Given the description of an element on the screen output the (x, y) to click on. 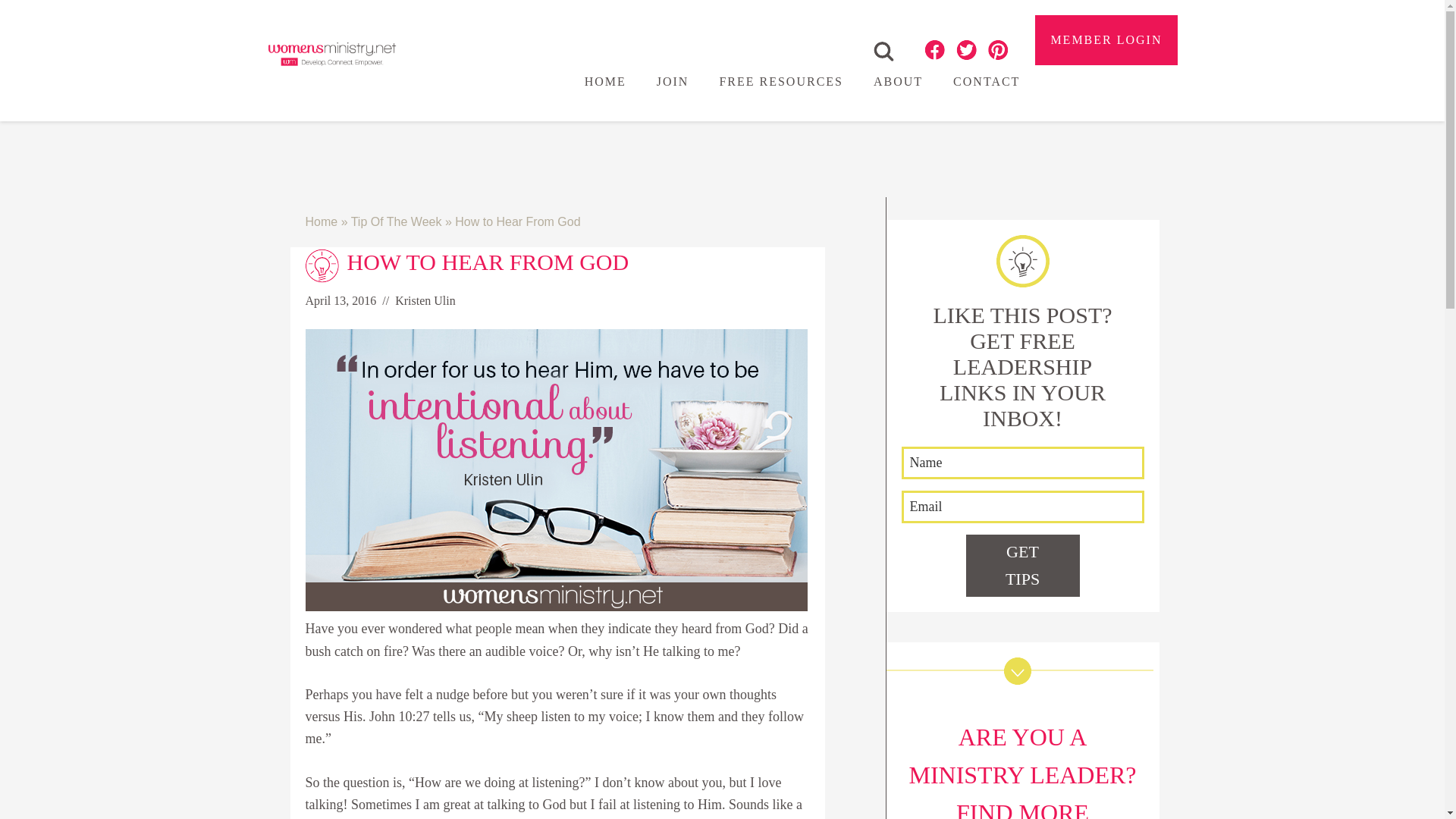
MEMBER LOGIN (1105, 39)
JOIN (673, 81)
womensministry.net (331, 53)
Tip Of The Week (396, 221)
Home (320, 221)
GET TIPS (1023, 565)
HOME (605, 81)
CONTACT (986, 81)
ABOUT (898, 81)
Search (883, 51)
FREE RESOURCES (781, 81)
